Given the description of an element on the screen output the (x, y) to click on. 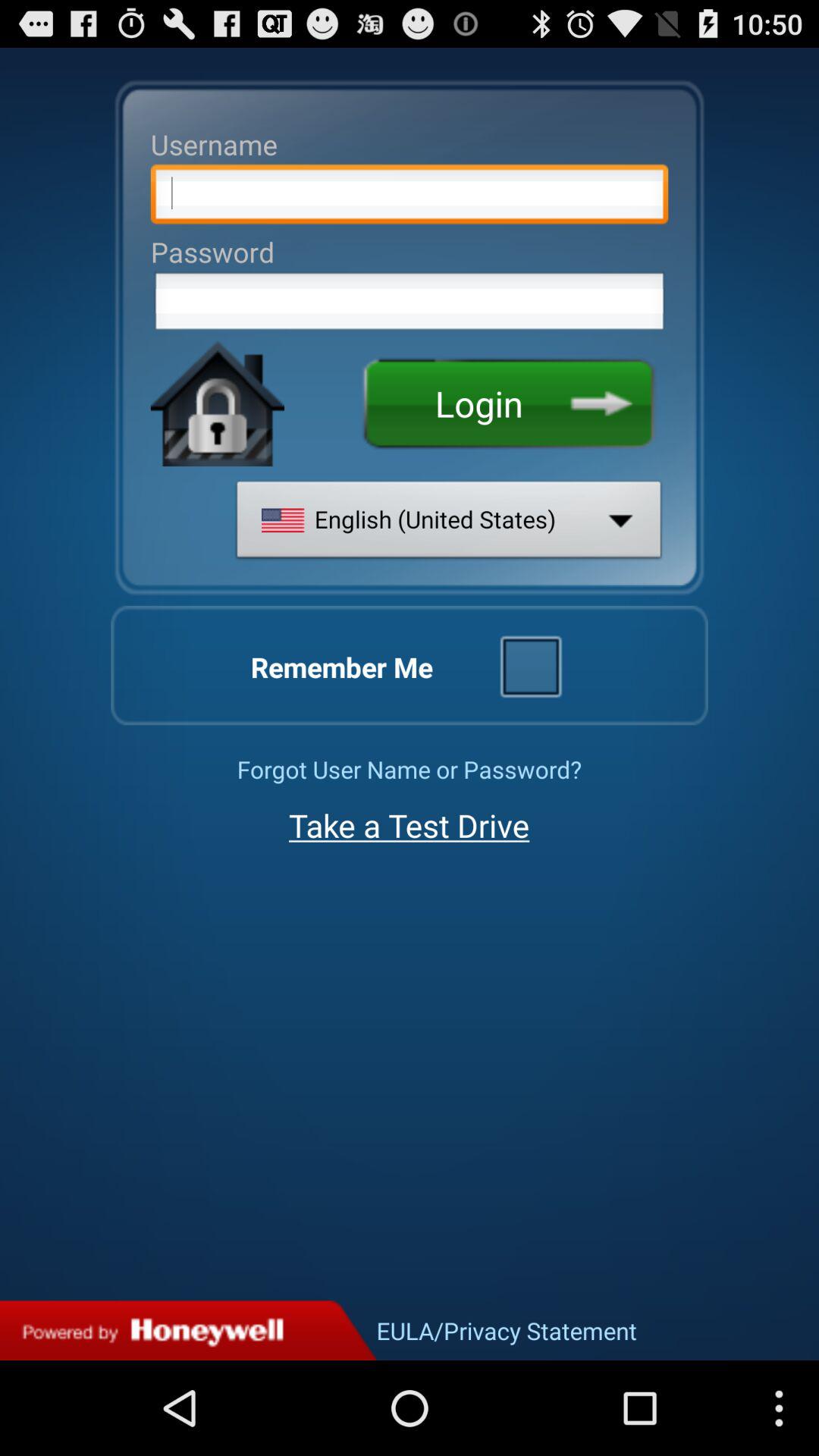
button to remember person logging in (530, 665)
